Given the description of an element on the screen output the (x, y) to click on. 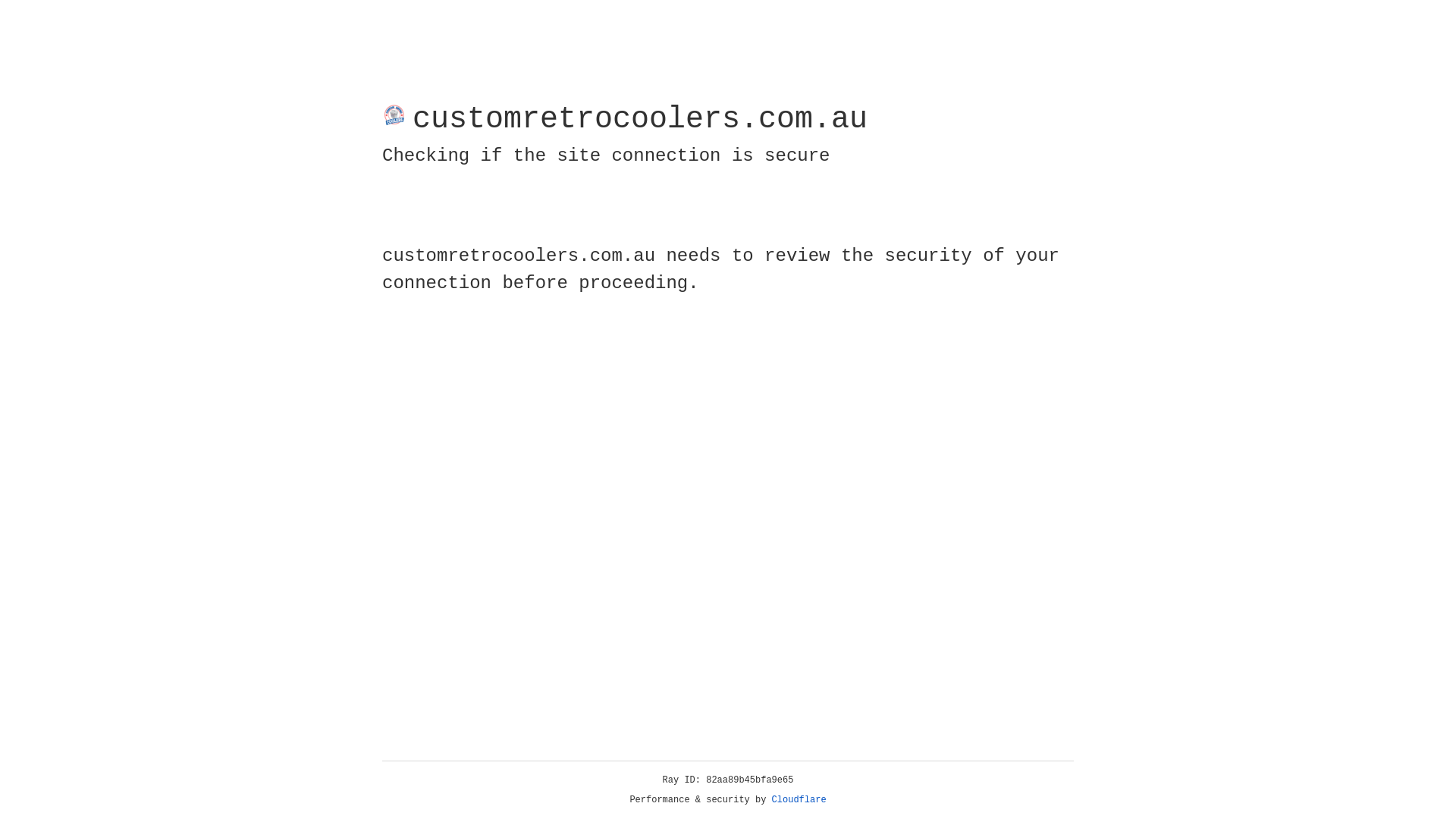
Cloudflare Element type: text (798, 799)
